Given the description of an element on the screen output the (x, y) to click on. 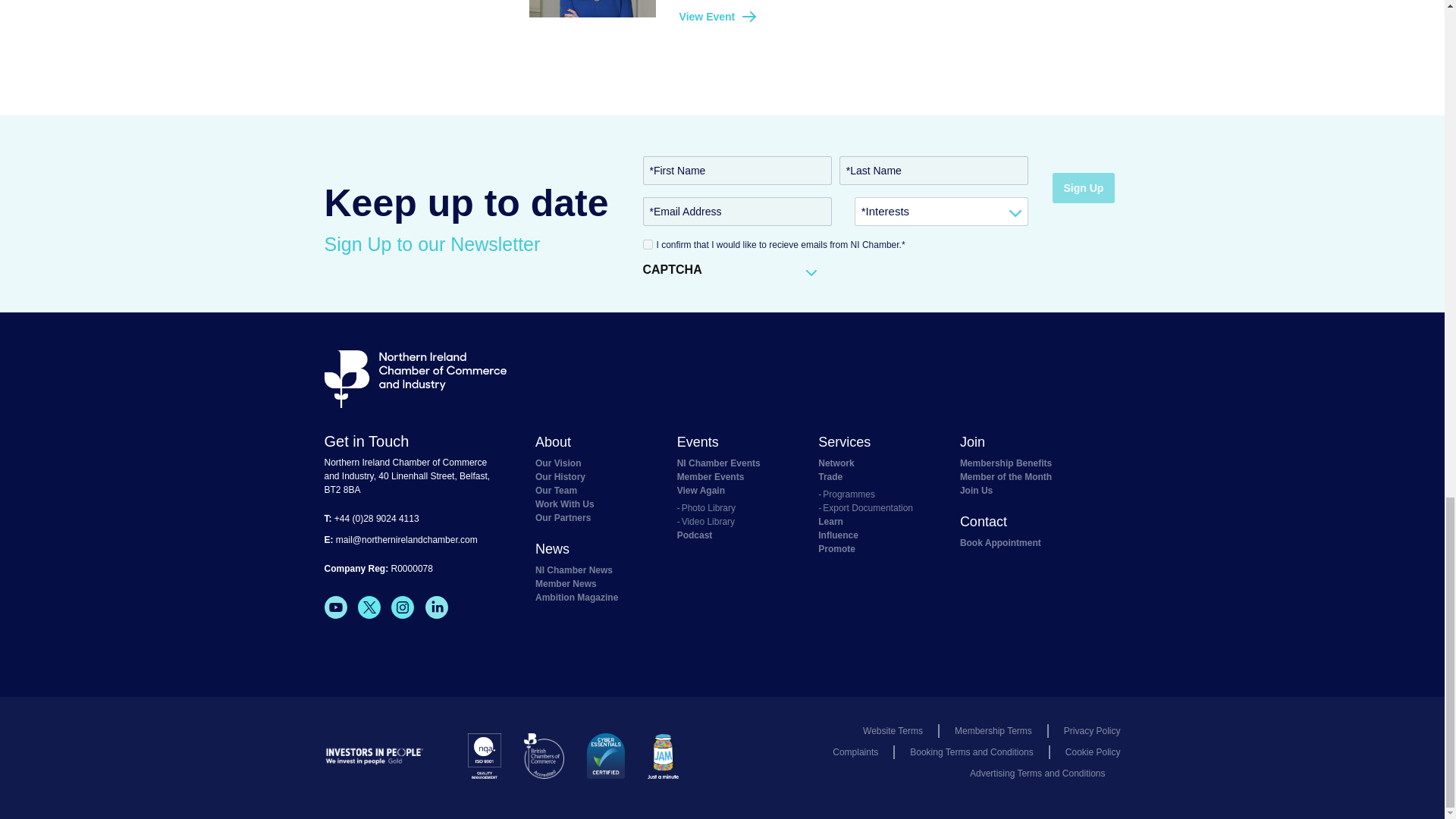
1 (647, 244)
